Given the description of an element on the screen output the (x, y) to click on. 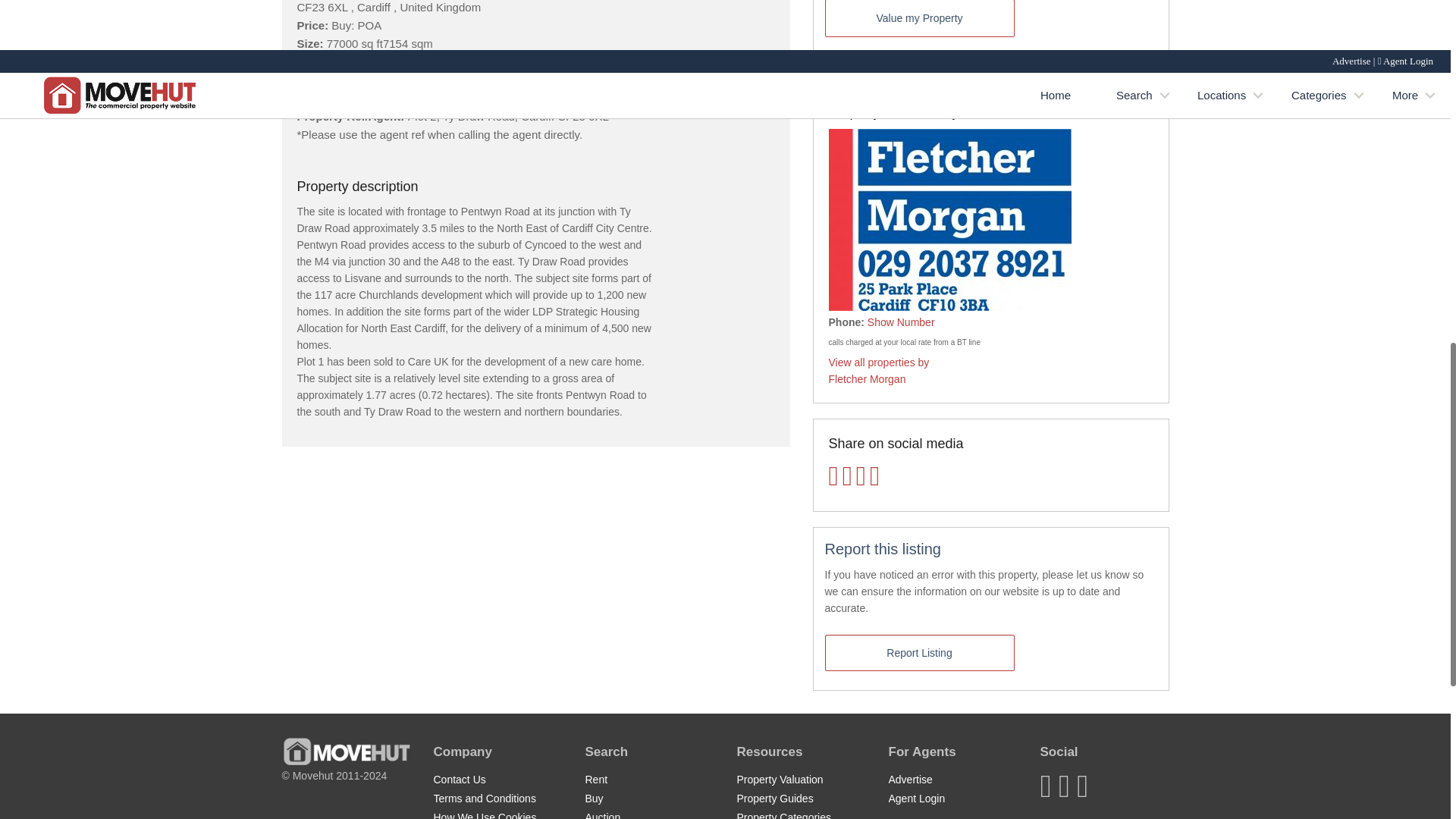
Report Listing (919, 651)
